Given the description of an element on the screen output the (x, y) to click on. 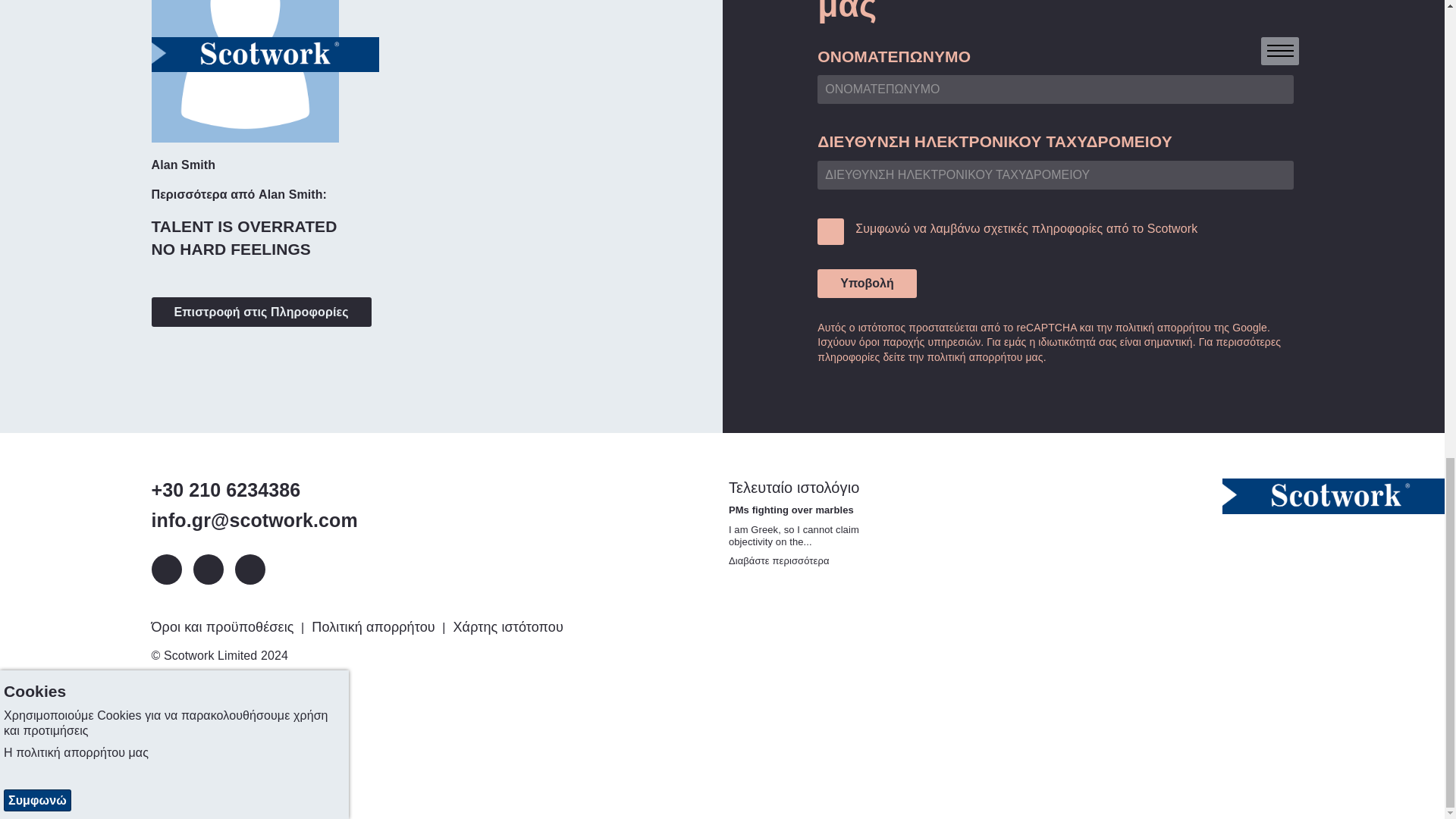
TALENT IS OVERRATED (244, 226)
twitter (207, 569)
linkedin (166, 569)
Talent is Overrated (244, 226)
PMs fighting over marbles (779, 560)
No Hard Feelings (231, 248)
NO HARD FEELINGS (231, 248)
facebook (249, 569)
